Given the description of an element on the screen output the (x, y) to click on. 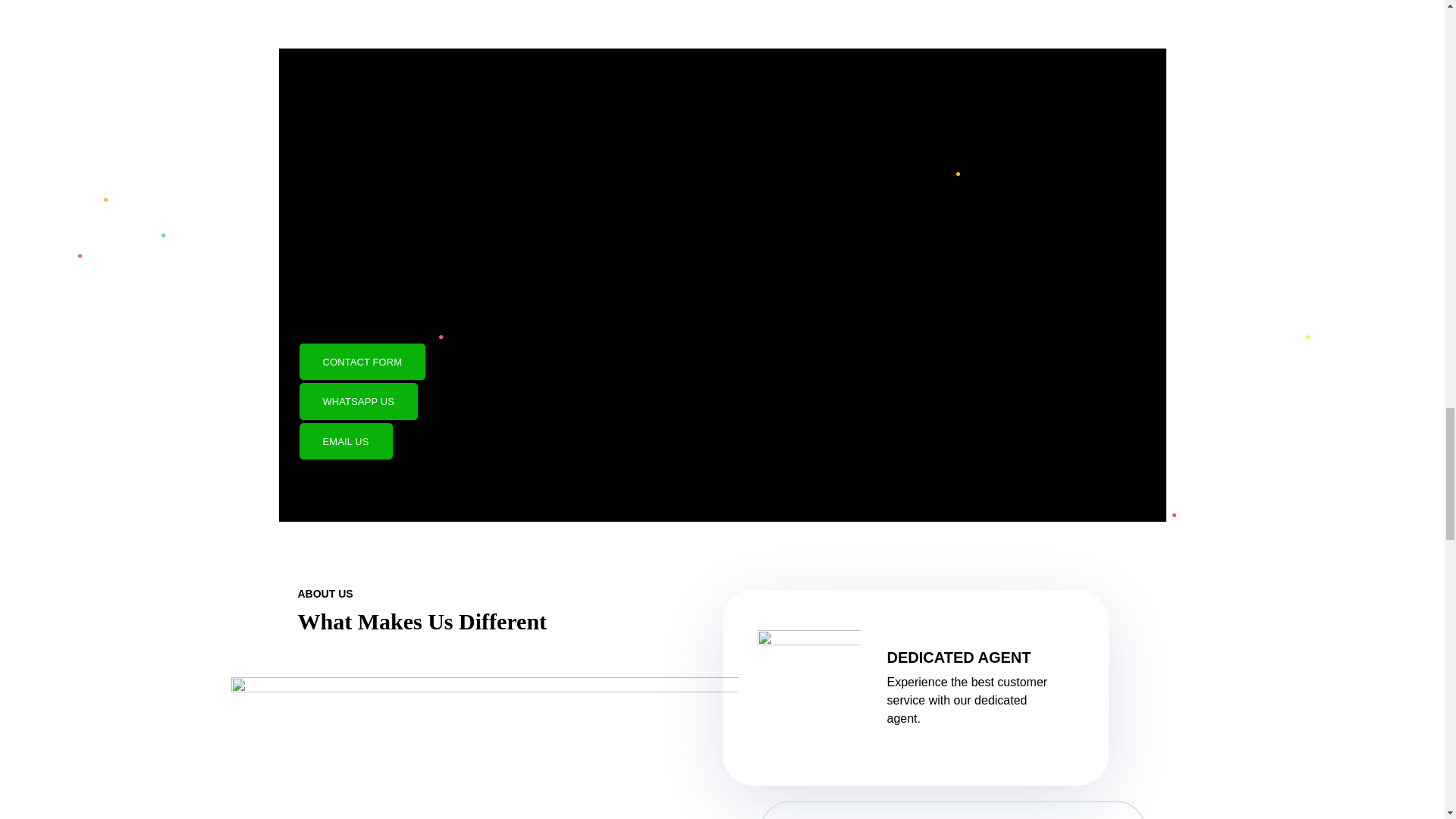
WHATSAPP US (357, 401)
CONTACT FORM (361, 361)
EMAIL US (344, 441)
What-We-Offer (484, 748)
